Given the description of an element on the screen output the (x, y) to click on. 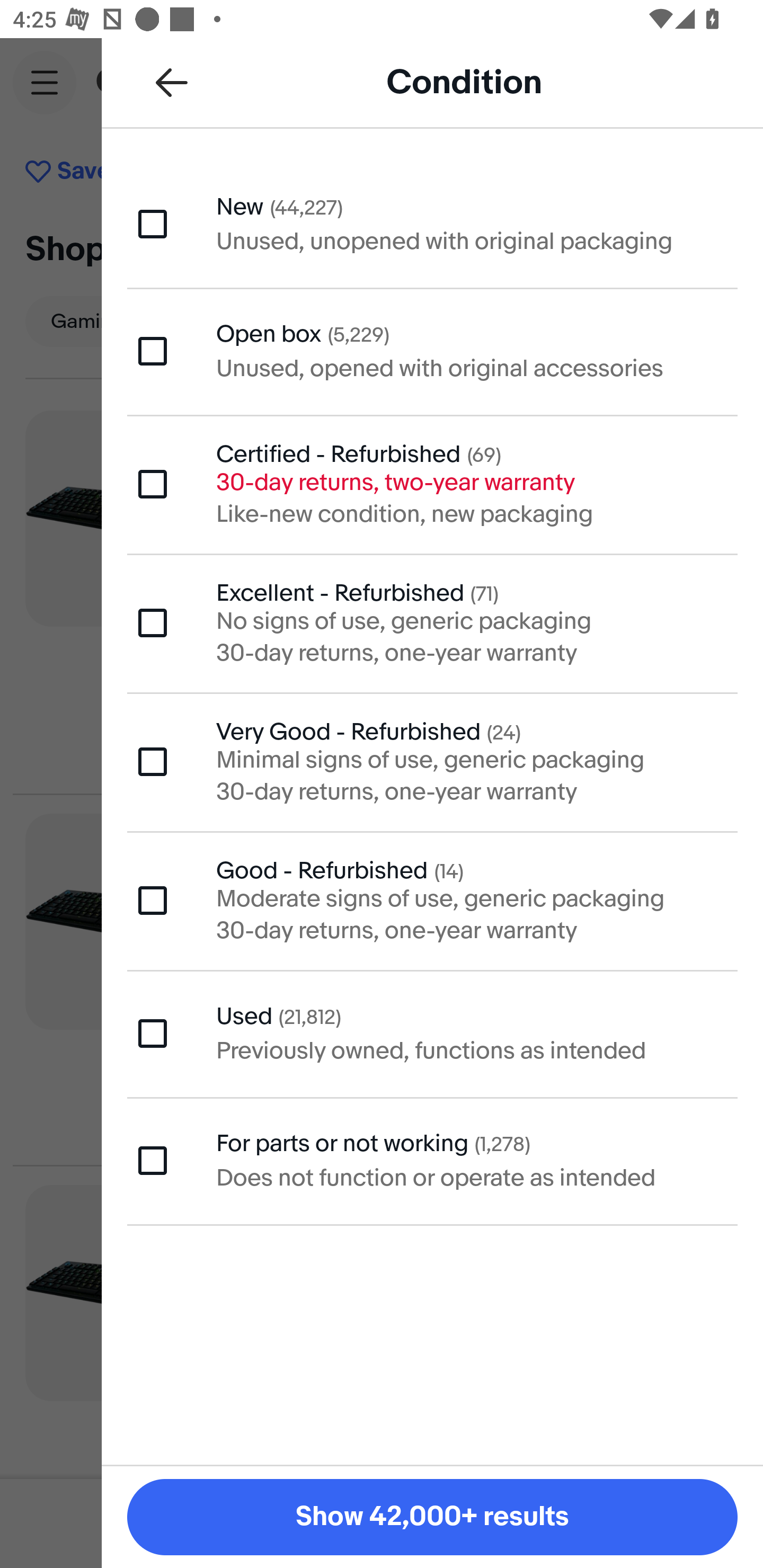
Back to all refinements (171, 81)
Show 42,000+ results (432, 1516)
